Given the description of an element on the screen output the (x, y) to click on. 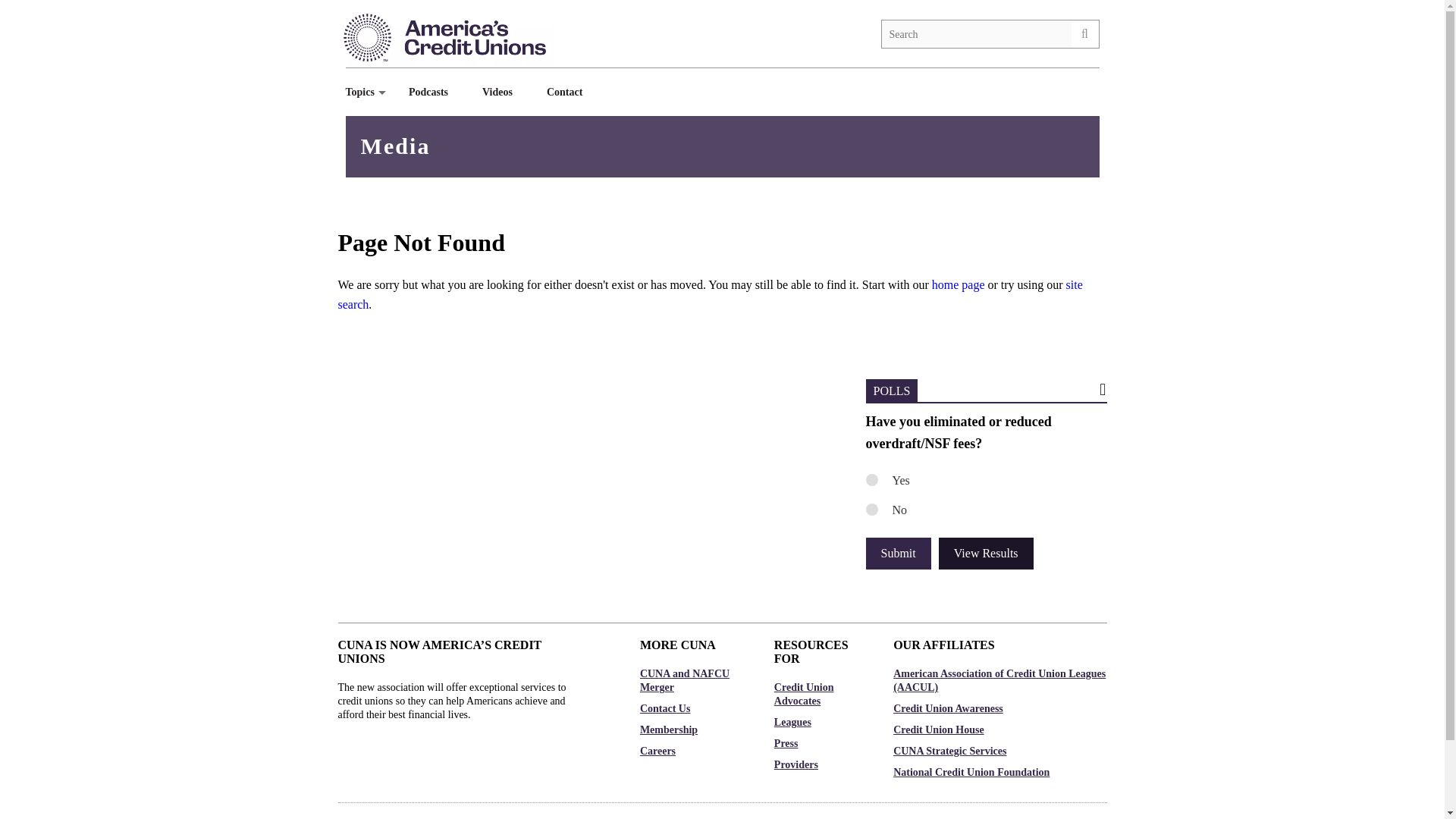
Contact Us (692, 708)
Media (395, 145)
site search (710, 294)
Press (818, 744)
Leagues (818, 722)
home page (958, 284)
Careers (692, 751)
Submit (898, 553)
CUNA and NAFCU Merger (692, 680)
View Results (986, 553)
Membership (692, 730)
Credit Union Advocates (818, 694)
POLLS (892, 391)
Contact (570, 91)
Podcasts (434, 91)
